Given the description of an element on the screen output the (x, y) to click on. 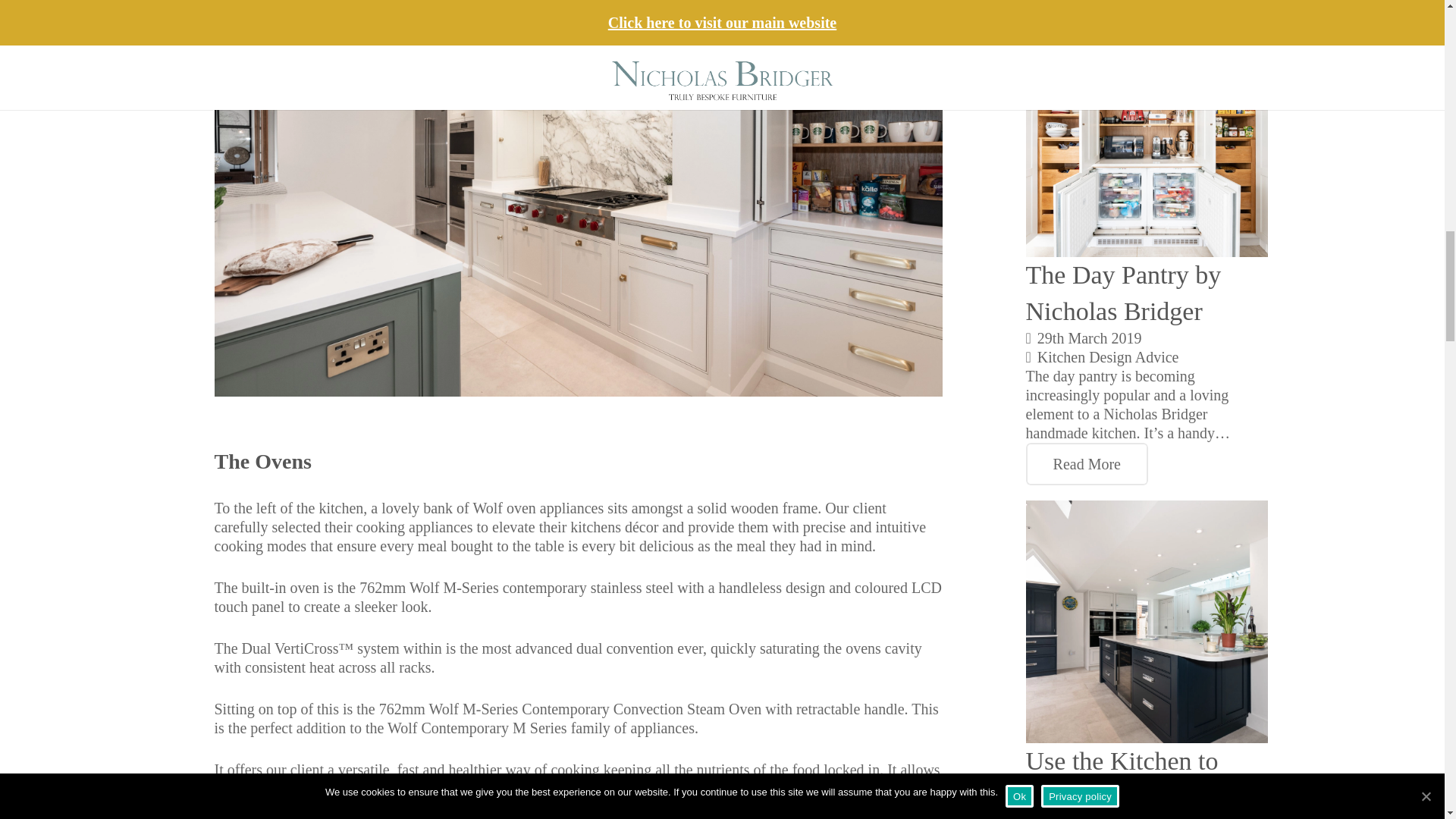
The Day Pantry by Nicholas Bridger (1123, 293)
Kitchen Design Advice (1107, 356)
Read More (1087, 464)
Use the Kitchen to Promote a Healthy Wellbeing (1123, 782)
